Given the description of an element on the screen output the (x, y) to click on. 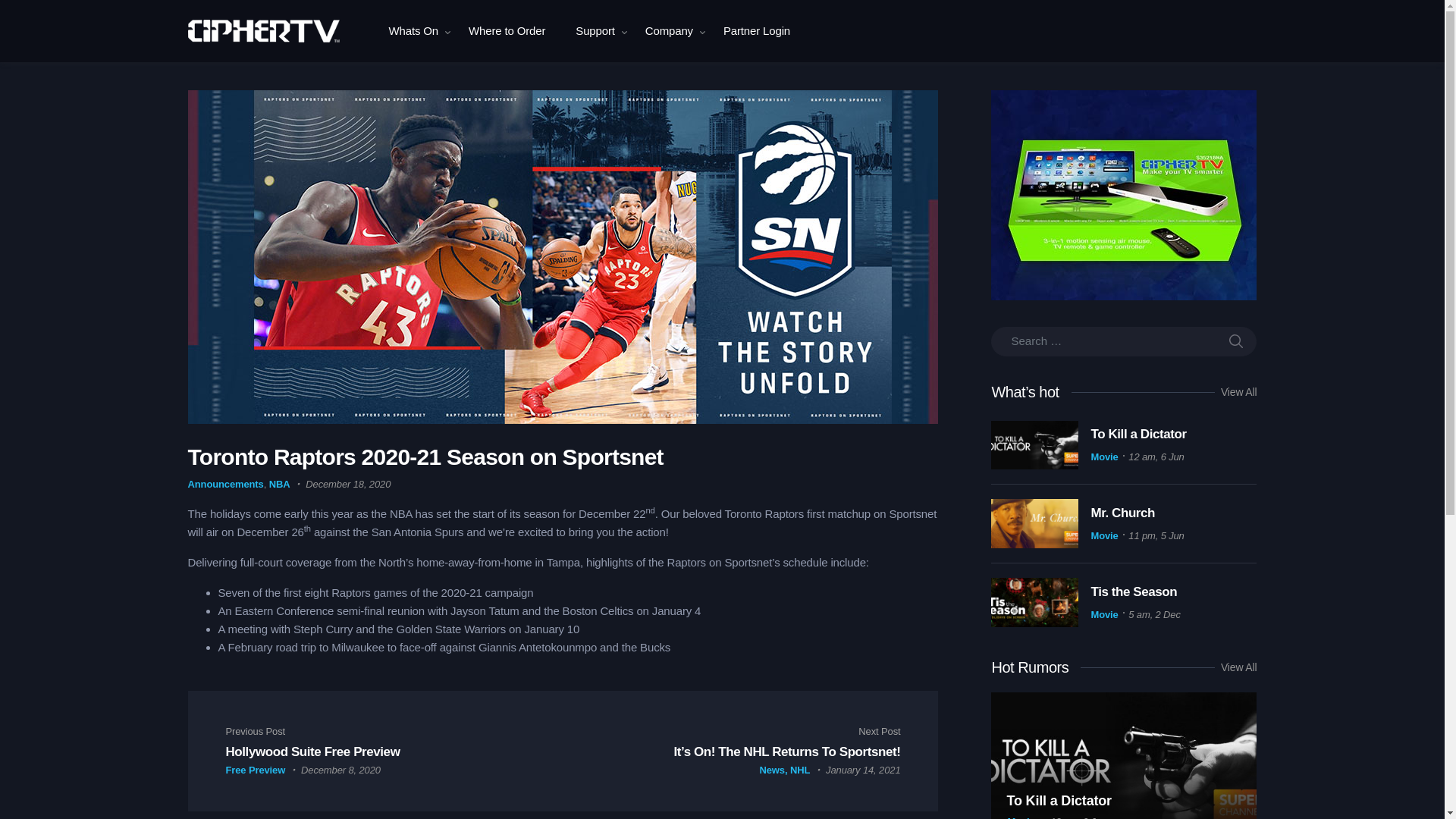
Partner Login (756, 31)
Where to Order (506, 31)
Company (668, 31)
Whats On (412, 31)
Support (595, 31)
